Given the description of an element on the screen output the (x, y) to click on. 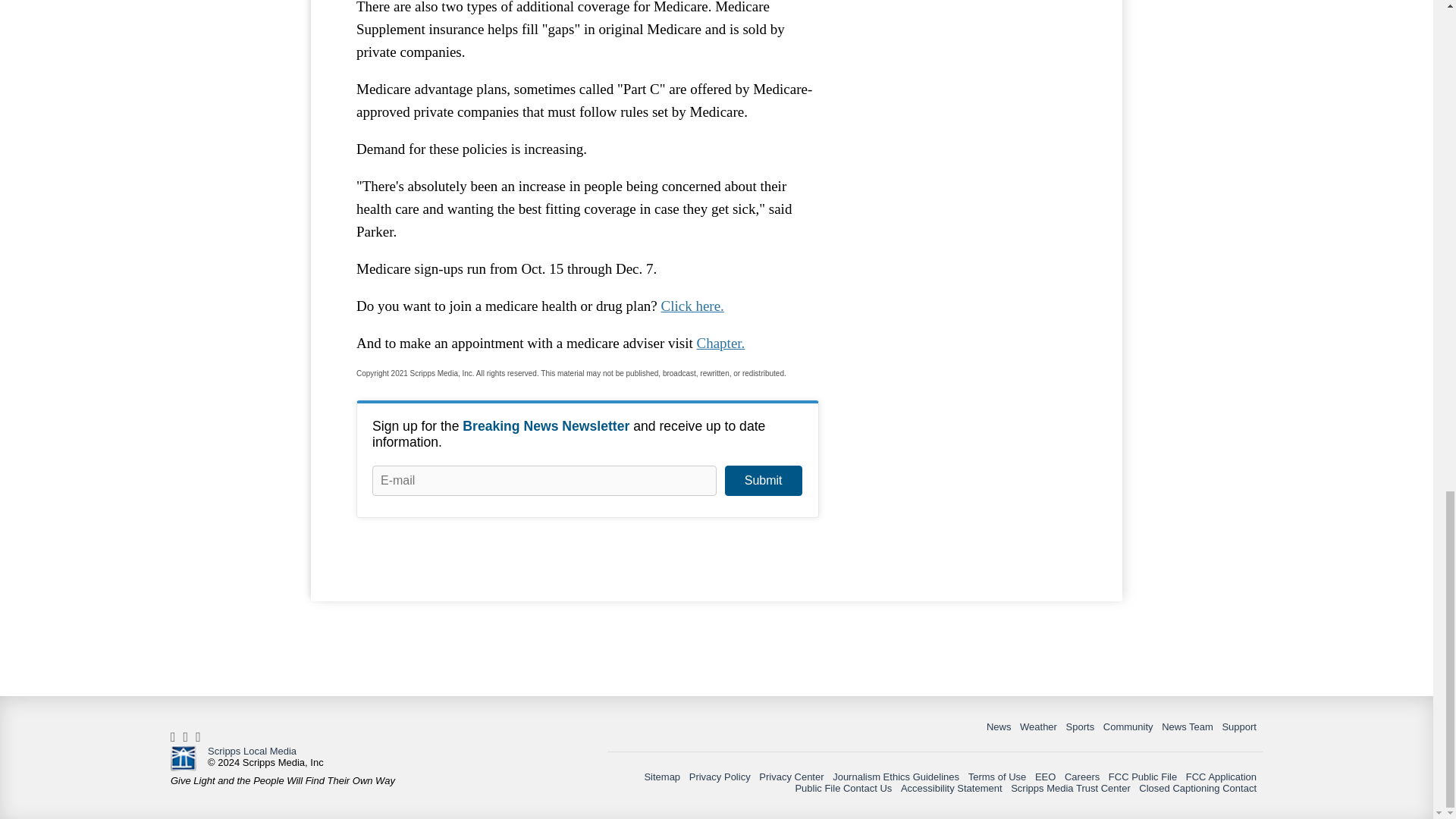
Submit (763, 481)
